Given the description of an element on the screen output the (x, y) to click on. 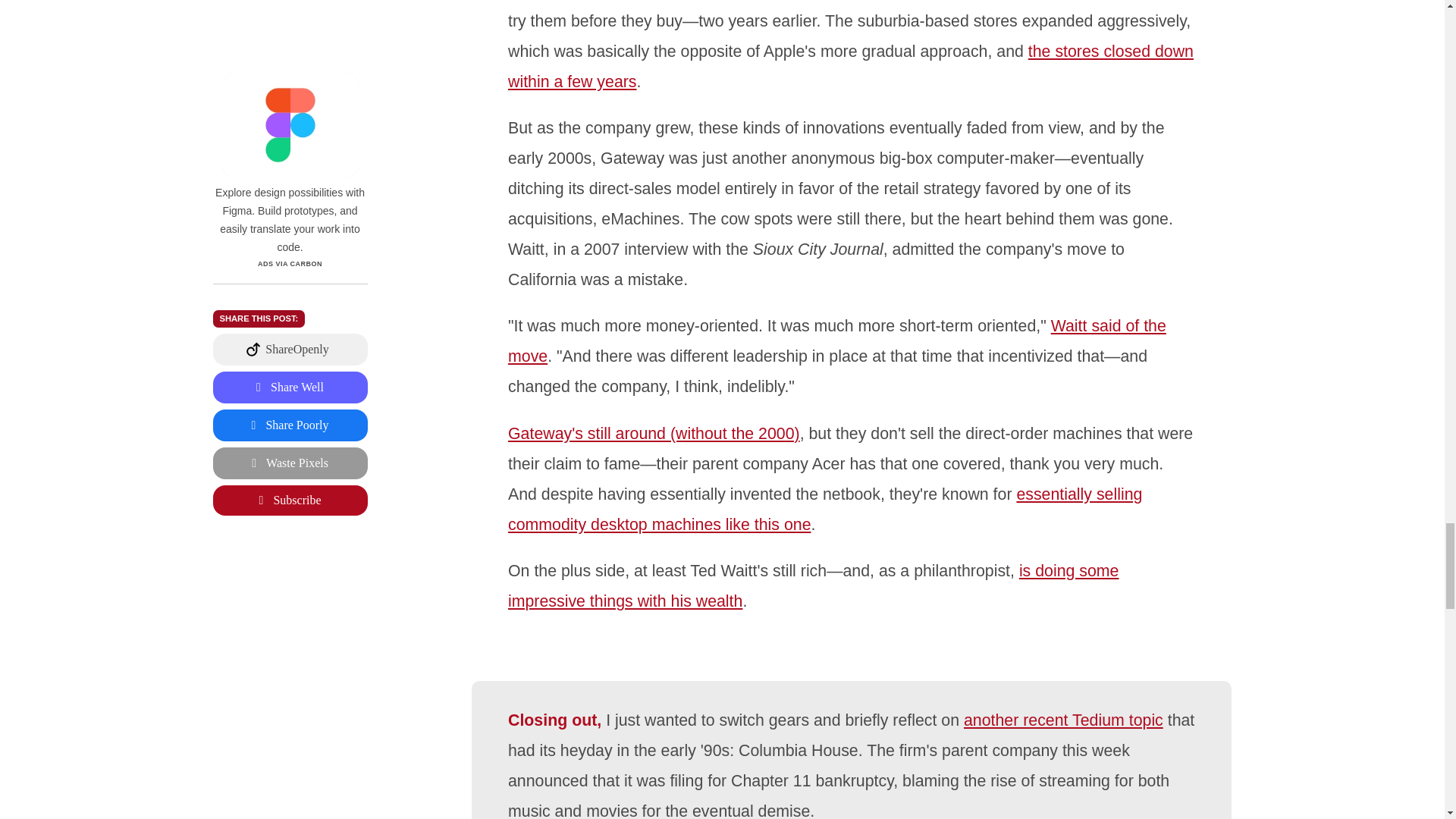
Waitt said of the move (837, 340)
another recent Tedium topic (1063, 720)
essentially selling commodity desktop machines like this one (824, 509)
the stores closed down within a few years (850, 66)
is doing some impressive things with his wealth (813, 585)
